Given the description of an element on the screen output the (x, y) to click on. 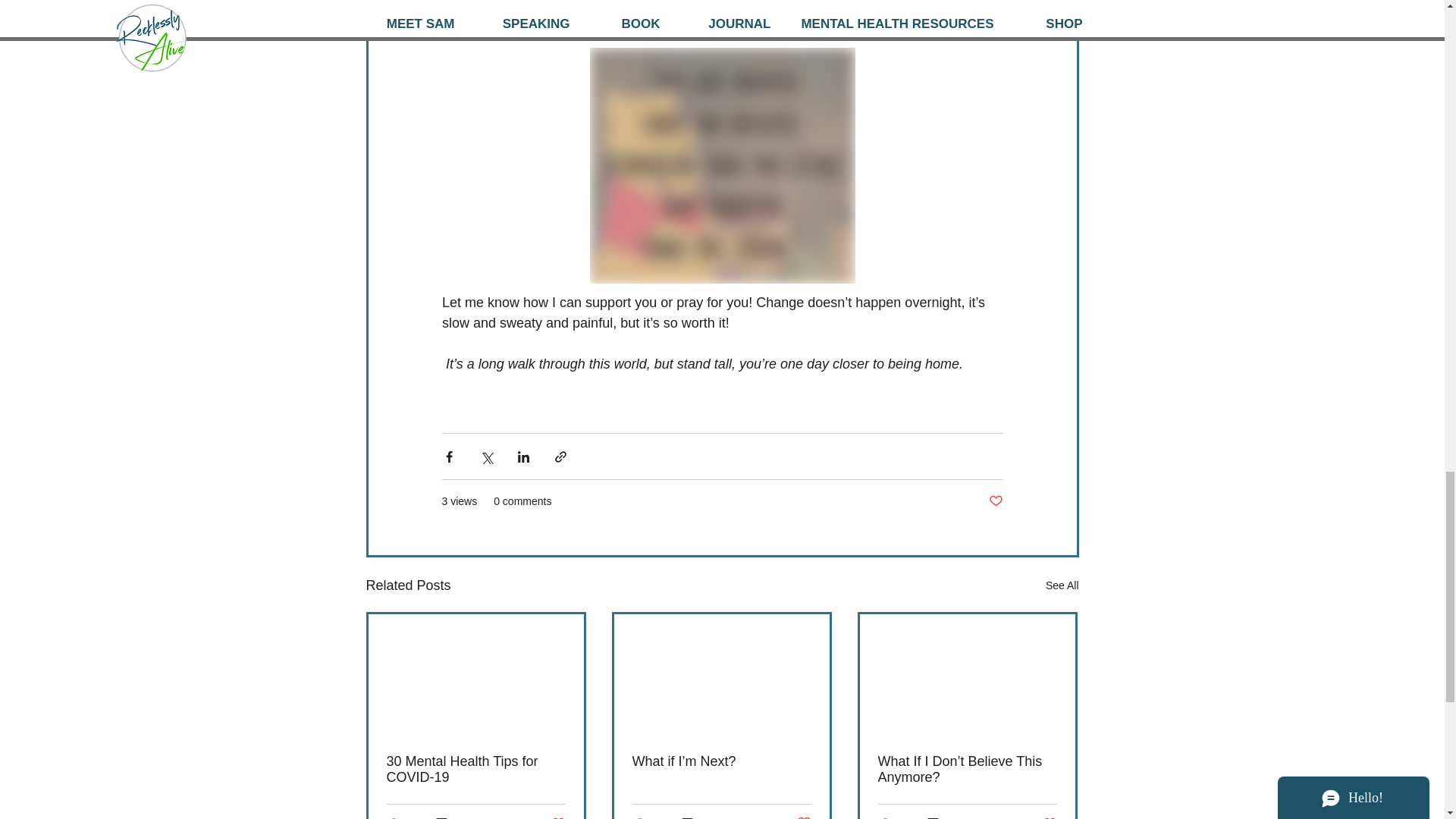
30 Mental Health Tips for COVID-19 (476, 769)
0 (446, 817)
Post not marked as liked (1045, 817)
See All (995, 501)
5 (1061, 585)
Post not marked as liked (553, 817)
2 (692, 817)
